Given the description of an element on the screen output the (x, y) to click on. 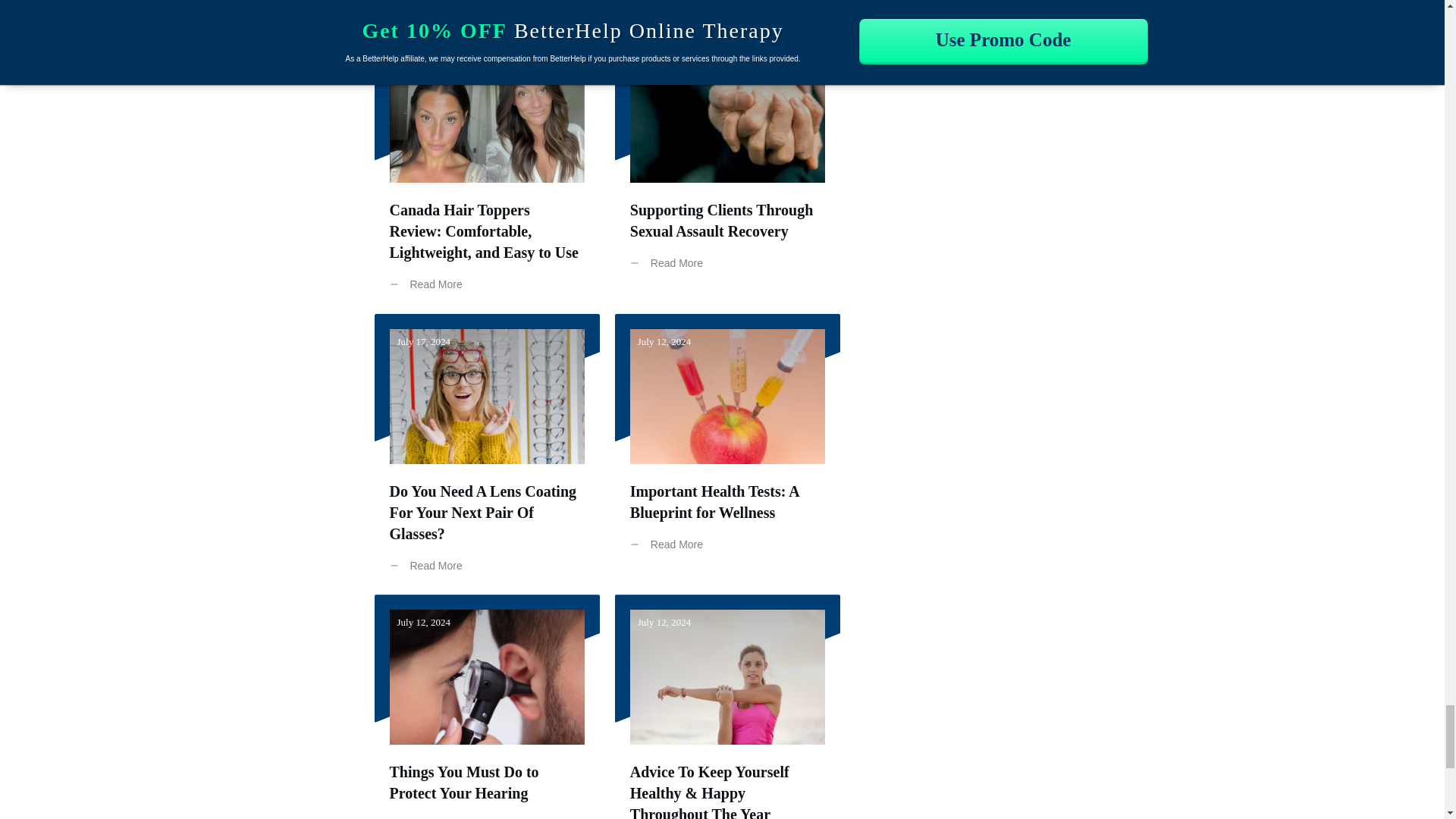
Supporting Clients Through Sexual Assault Recovery (721, 220)
Do You Need A Lens Coating For Your Next Pair Of Glasses? (483, 512)
Important Health Tests: A Blueprint for Wellness (714, 501)
Things You Must Do to Protect Your Hearing (464, 782)
